Given the description of an element on the screen output the (x, y) to click on. 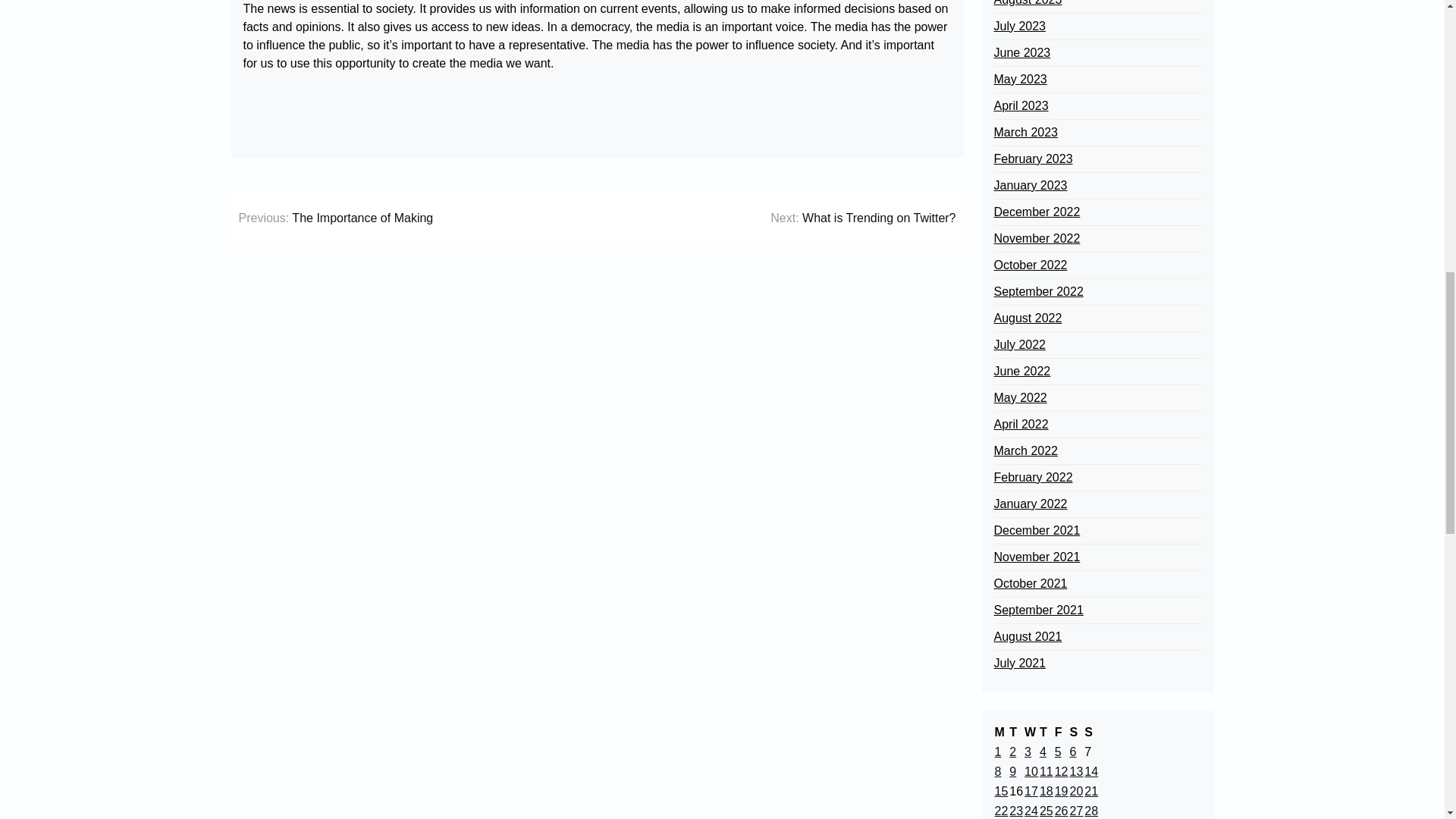
August 2023 (1026, 4)
May 2023 (1019, 79)
July 2023 (1018, 26)
April 2023 (1020, 106)
December 2022 (1036, 212)
June 2023 (1020, 53)
February 2023 (1031, 158)
January 2023 (1029, 185)
November 2022 (1036, 239)
Previous: The Importance of Making (335, 218)
March 2023 (1025, 132)
Next: What is Trending on Twitter? (862, 218)
